Given the description of an element on the screen output the (x, y) to click on. 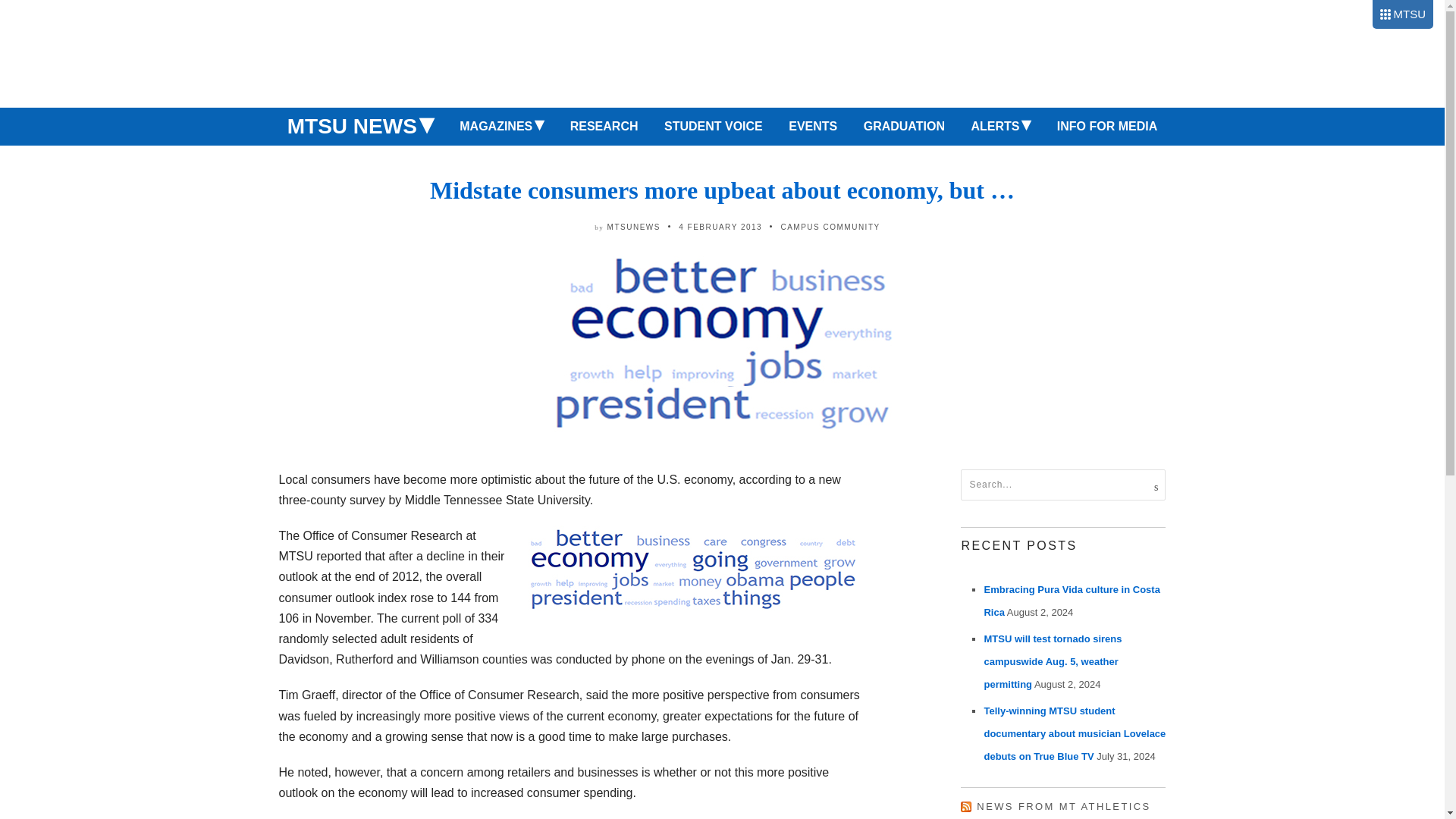
February 4, 2013 4:59 (719, 226)
consumer outlook graphic (692, 569)
Posts by mtsunews (634, 226)
